Given the description of an element on the screen output the (x, y) to click on. 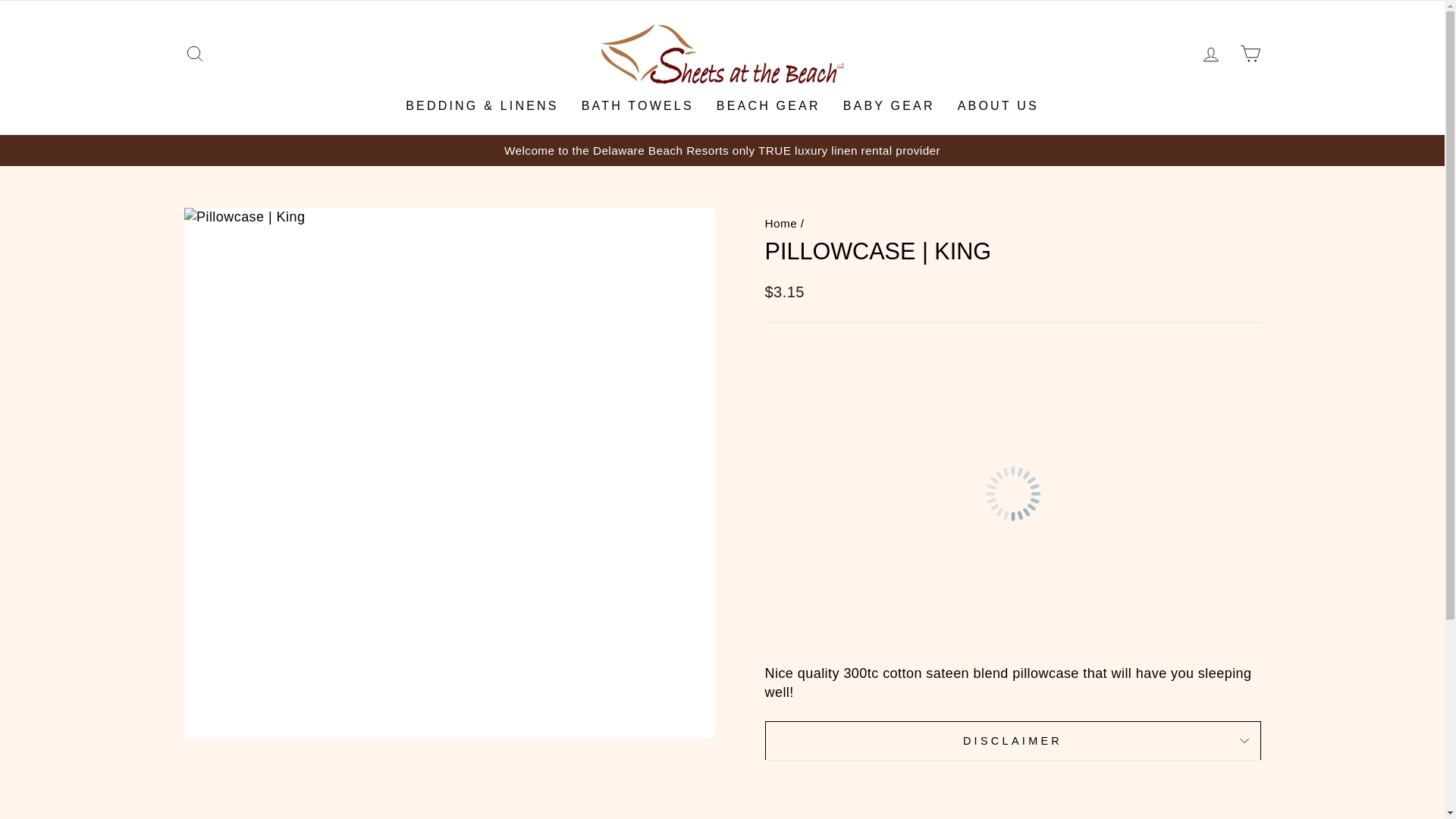
BATH TOWELS (637, 105)
CART (1249, 53)
Back to the frontpage (780, 223)
ABOUT US (997, 105)
BABY GEAR (888, 105)
LOG IN (1210, 53)
SEARCH (194, 53)
BEACH GEAR (767, 105)
